Given the description of an element on the screen output the (x, y) to click on. 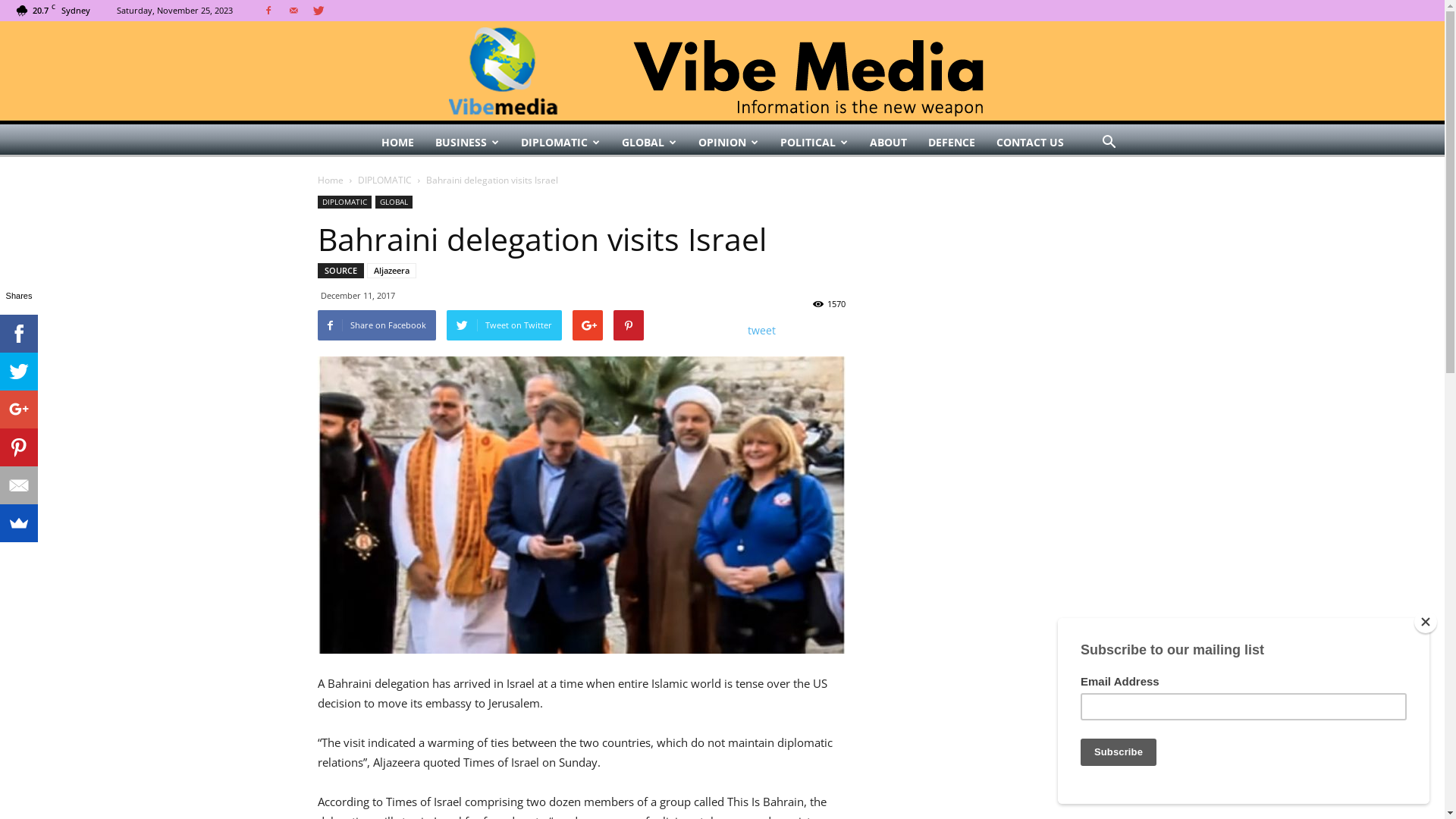
SumoMe Element type: hover (18, 523)
Vibe Media Element type: hover (722, 70)
BUSINESS Element type: text (467, 142)
Tweet on Twitter Element type: text (503, 325)
GLOBAL Element type: text (649, 142)
Twitter Element type: hover (18, 371)
DEFENCE Element type: text (951, 142)
behrain Element type: hover (580, 504)
OPINION Element type: text (727, 142)
Google+ Element type: hover (18, 409)
Search Element type: text (1084, 203)
GLOBAL Element type: text (392, 201)
Aljazeera Element type: text (391, 270)
POLITICAL Element type: text (813, 142)
Twitter Element type: hover (318, 10)
Email Element type: hover (18, 485)
DIPLOMATIC Element type: text (384, 179)
Mail Element type: hover (293, 10)
VibeMedia Element type: text (722, 70)
ABOUT Element type: text (887, 142)
Share on Facebook Element type: text (375, 325)
Facebook Element type: hover (268, 10)
Facebook Element type: hover (18, 333)
HOME Element type: text (396, 142)
DIPLOMATIC Element type: text (343, 201)
Home Element type: text (329, 179)
CONTACT US Element type: text (1029, 142)
tweet Element type: text (761, 330)
Pinterest Element type: hover (18, 447)
DIPLOMATIC Element type: text (559, 142)
